Given the description of an element on the screen output the (x, y) to click on. 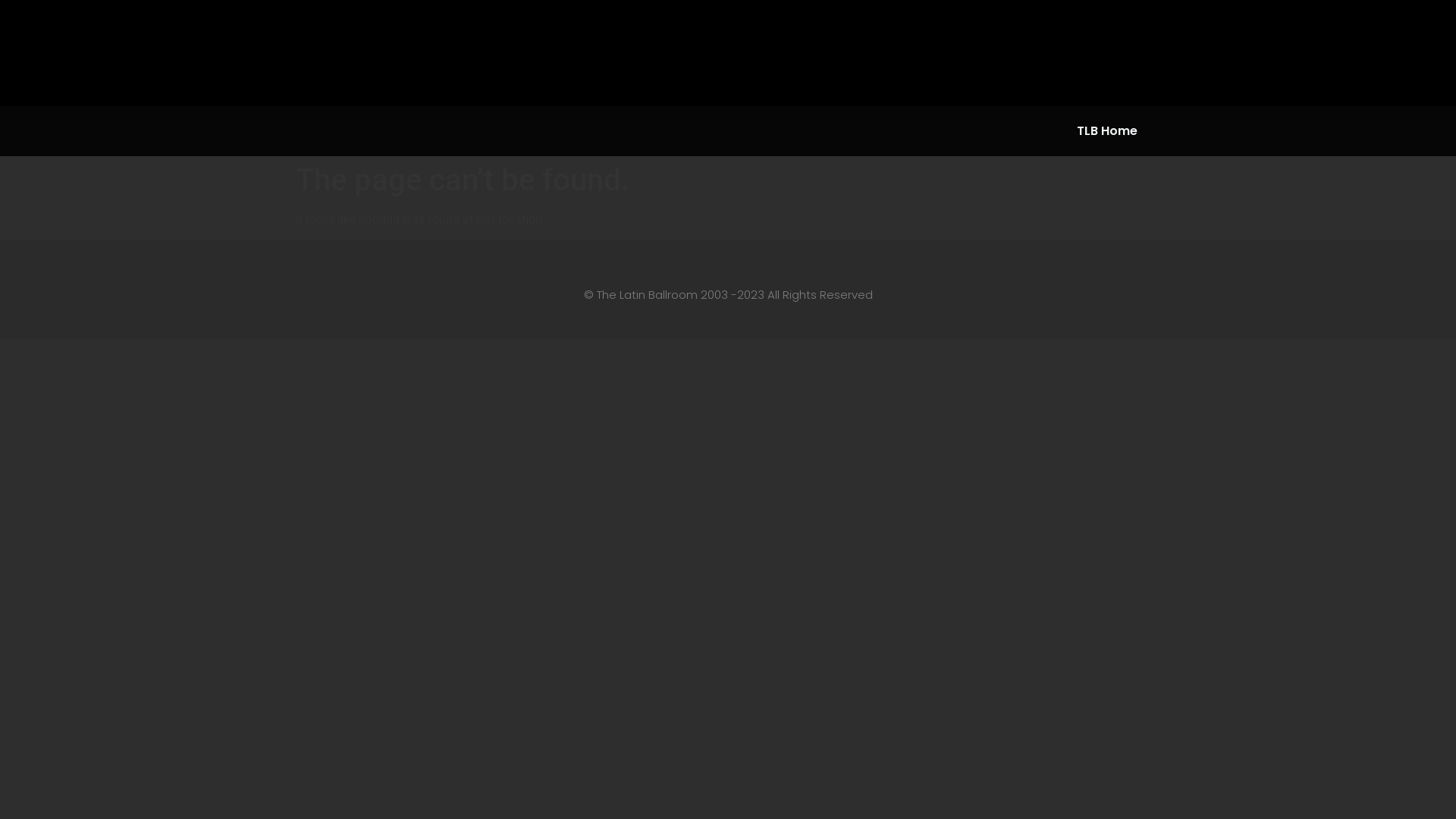
TLB Home Element type: text (1106, 130)
